Given the description of an element on the screen output the (x, y) to click on. 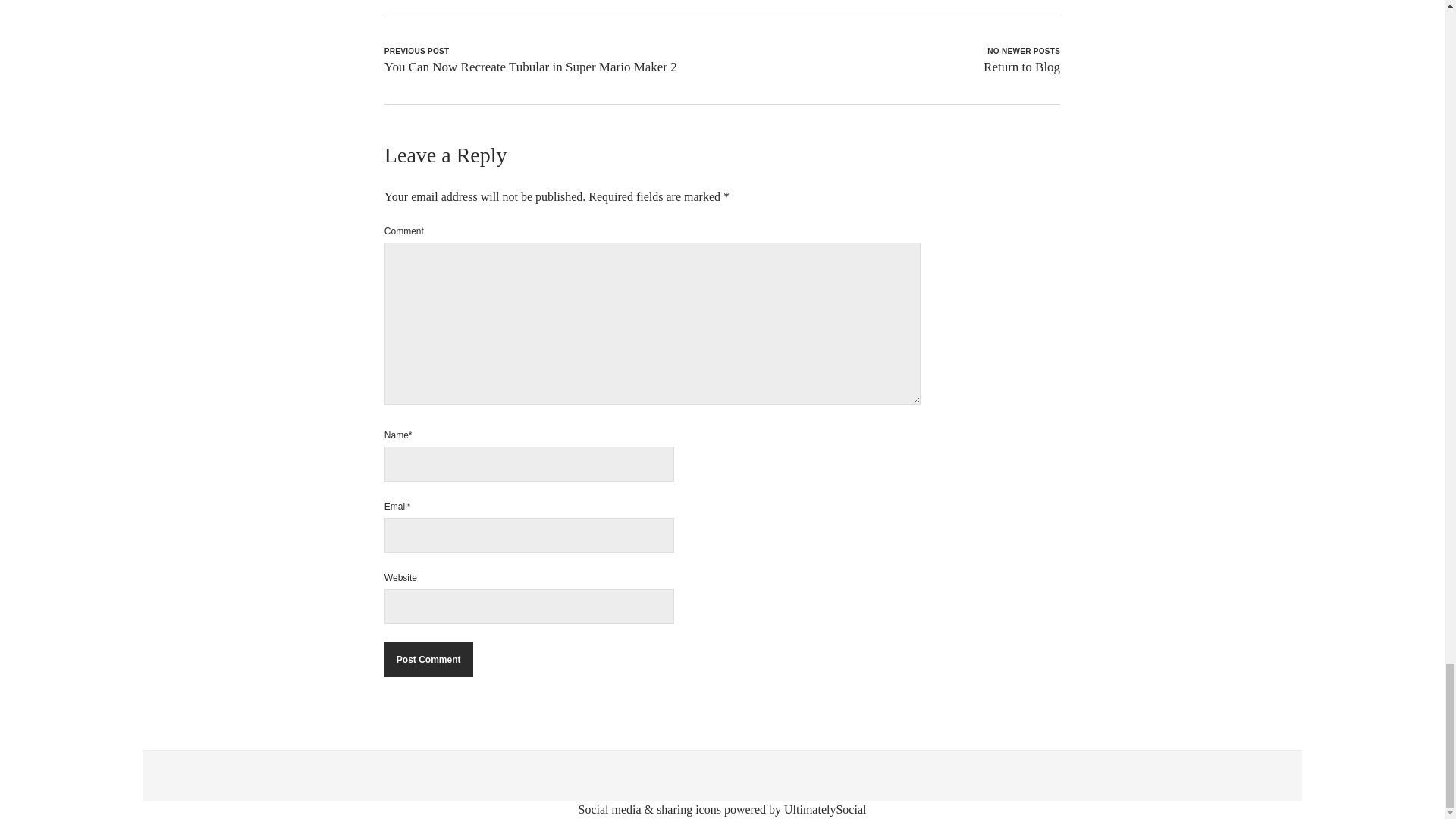
Return to Blog (1021, 66)
UltimatelySocial (825, 809)
You Can Now Recreate Tubular in Super Mario Maker 2 (530, 66)
Post Comment (428, 659)
Post Comment (428, 659)
